Given the description of an element on the screen output the (x, y) to click on. 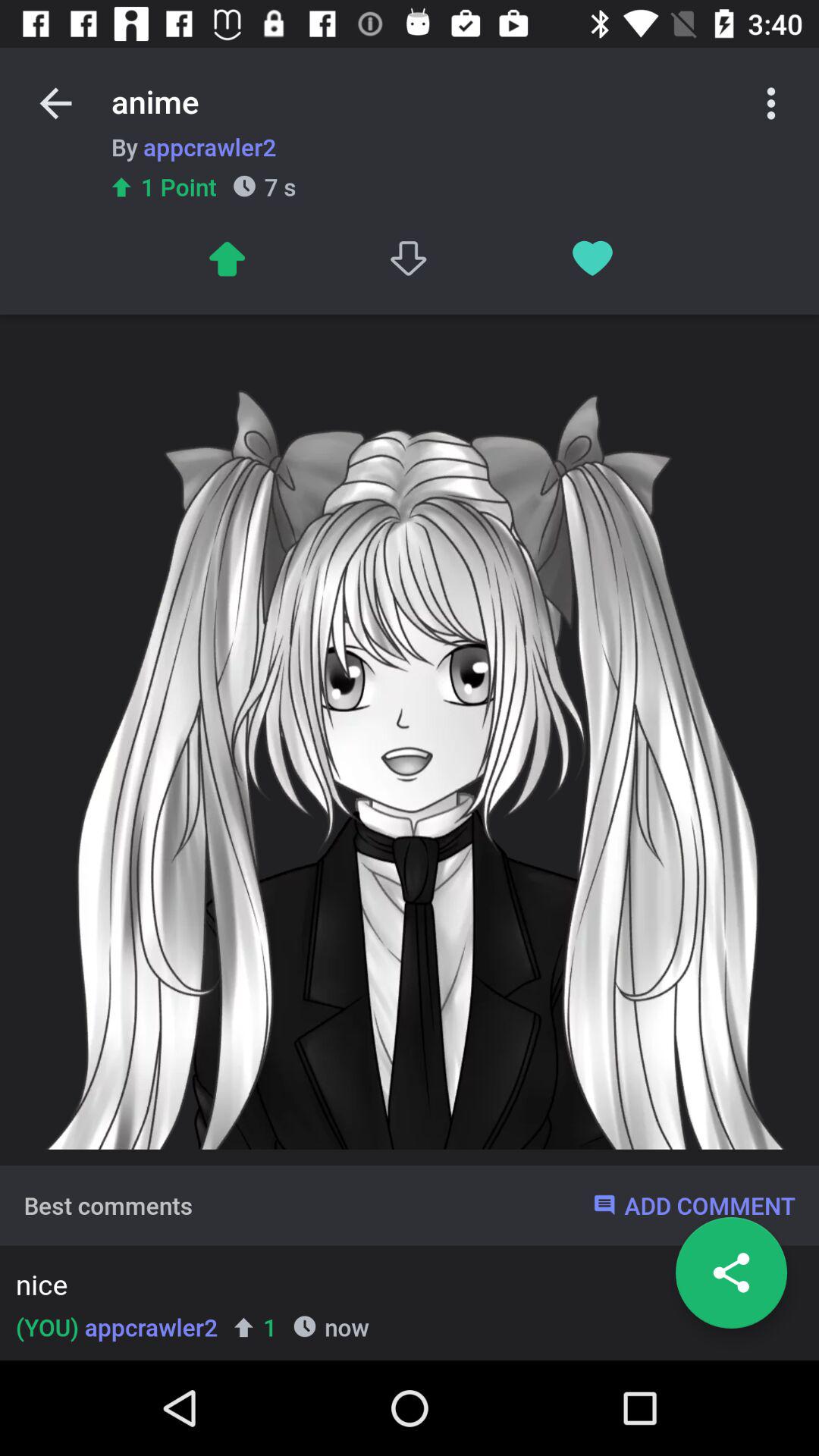
choose icon to the right of the 7 s icon (409, 258)
